Given the description of an element on the screen output the (x, y) to click on. 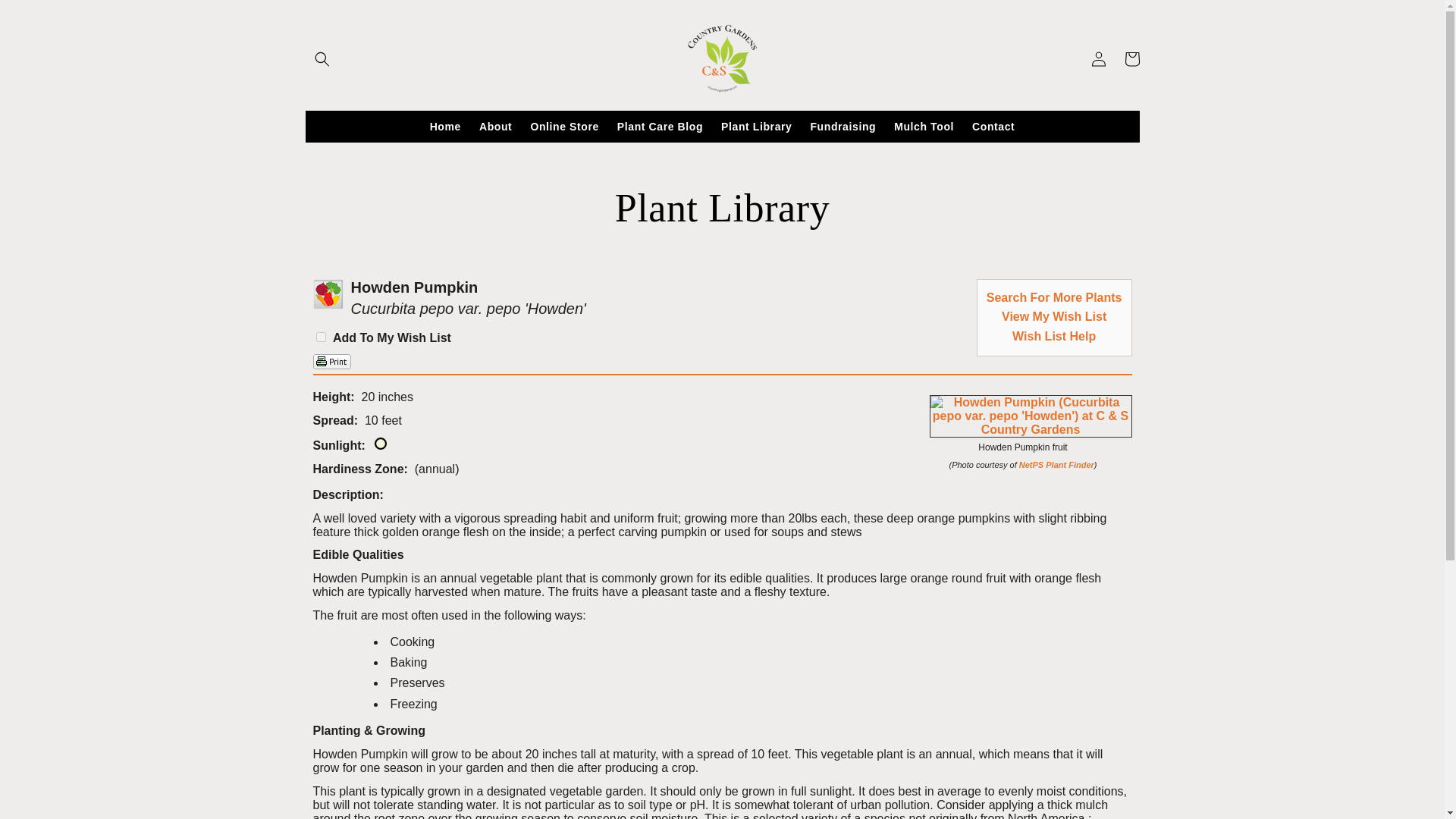
Log in (1098, 59)
vegetable (327, 294)
full sun (380, 443)
Mulch Tool (923, 126)
Online Store (564, 126)
Cart (1131, 59)
About (495, 126)
Home (445, 126)
Plant Library (755, 126)
True (319, 337)
